Given the description of an element on the screen output the (x, y) to click on. 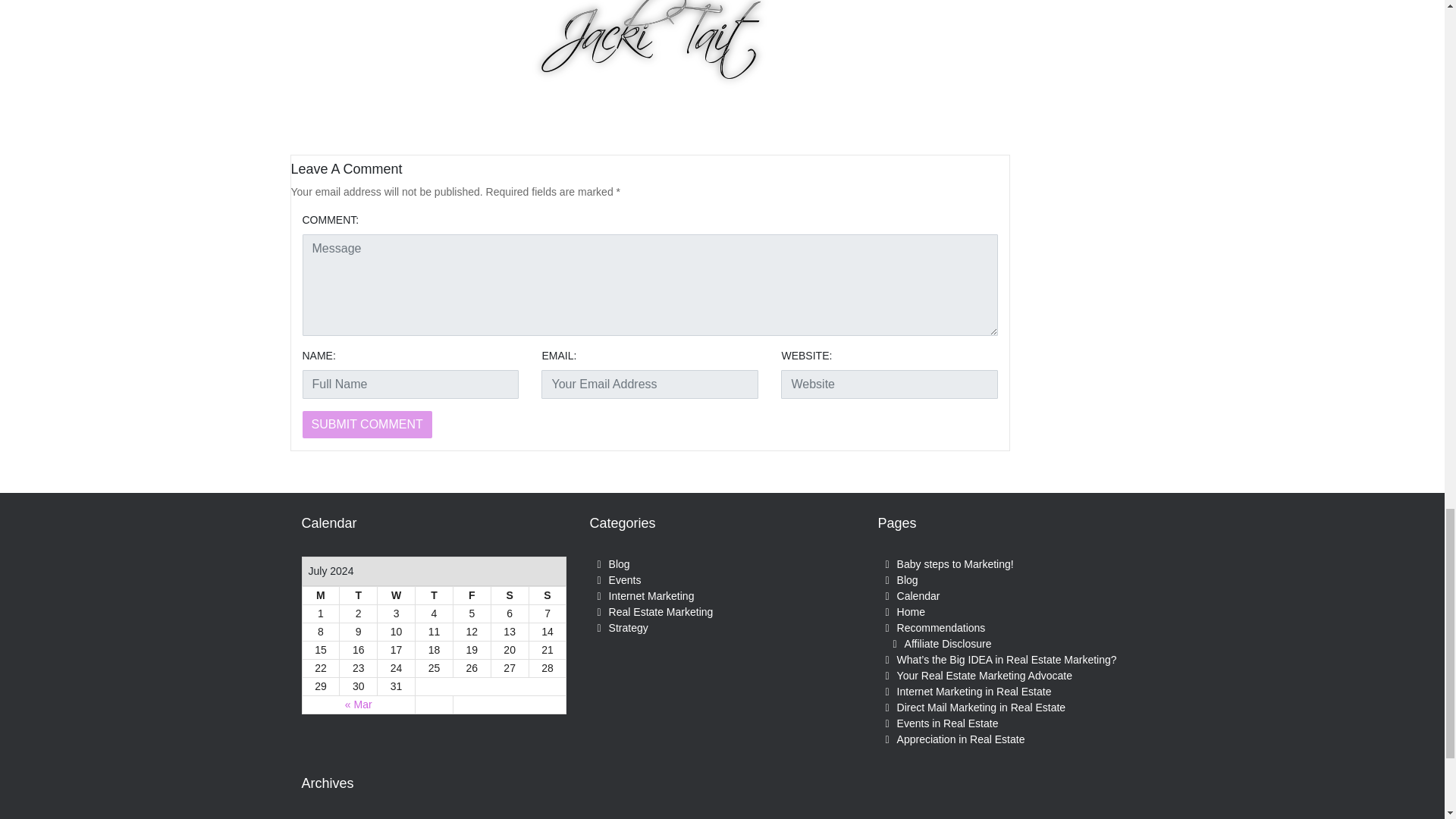
Blog (619, 563)
Calendar (918, 595)
Strategy (627, 627)
Baby steps to Marketing! (954, 563)
Wednesday (395, 596)
Monday (320, 596)
Affiliate Disclosure (947, 644)
Blog (907, 580)
Internet Marketing (651, 595)
SUBMIT COMMENT (365, 424)
Events in Real Estate (947, 723)
Internet Marketing in Real Estate (973, 691)
Recommendations (940, 627)
Home (910, 612)
Friday (471, 596)
